Given the description of an element on the screen output the (x, y) to click on. 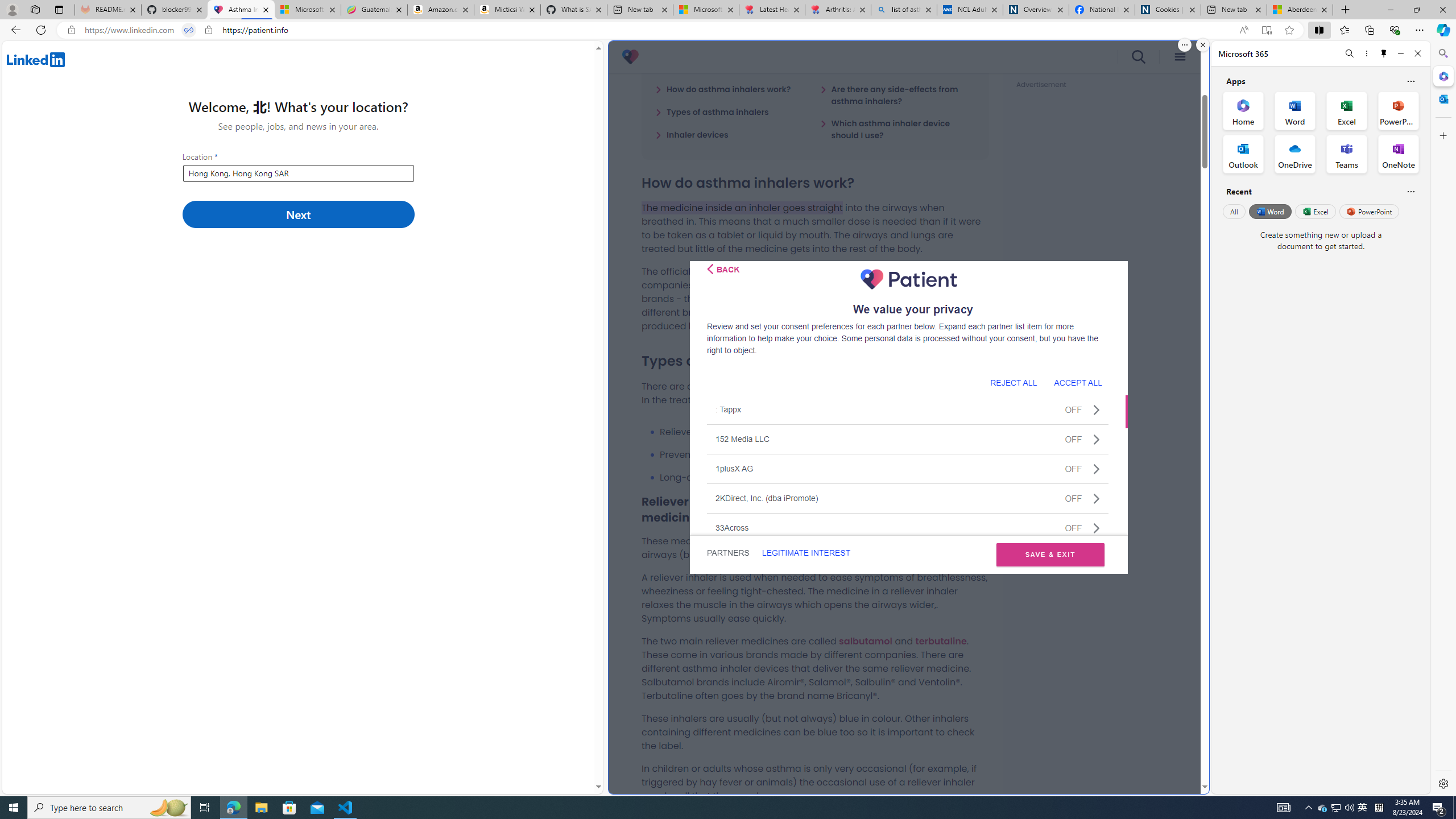
Aberdeen, Hong Kong SAR hourly forecast | Microsoft Weather (1300, 9)
